Given the description of an element on the screen output the (x, y) to click on. 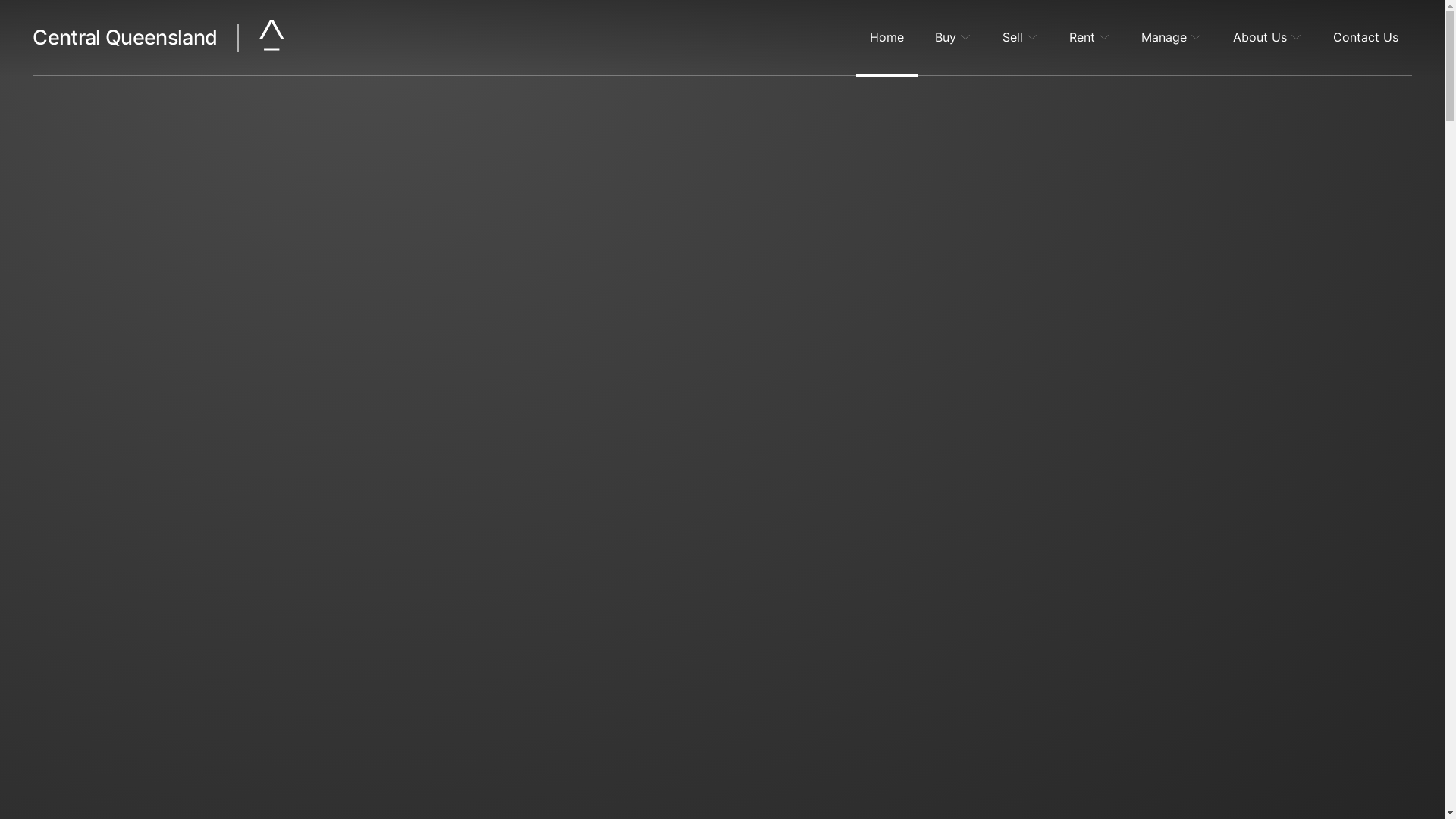
Contact Us Element type: text (1365, 37)
Rent Element type: text (1089, 37)
Home Element type: text (886, 37)
About Us Element type: text (1267, 37)
Manage Element type: text (1171, 37)
Buy Element type: text (953, 37)
Sell Element type: text (1019, 37)
